Given the description of an element on the screen output the (x, y) to click on. 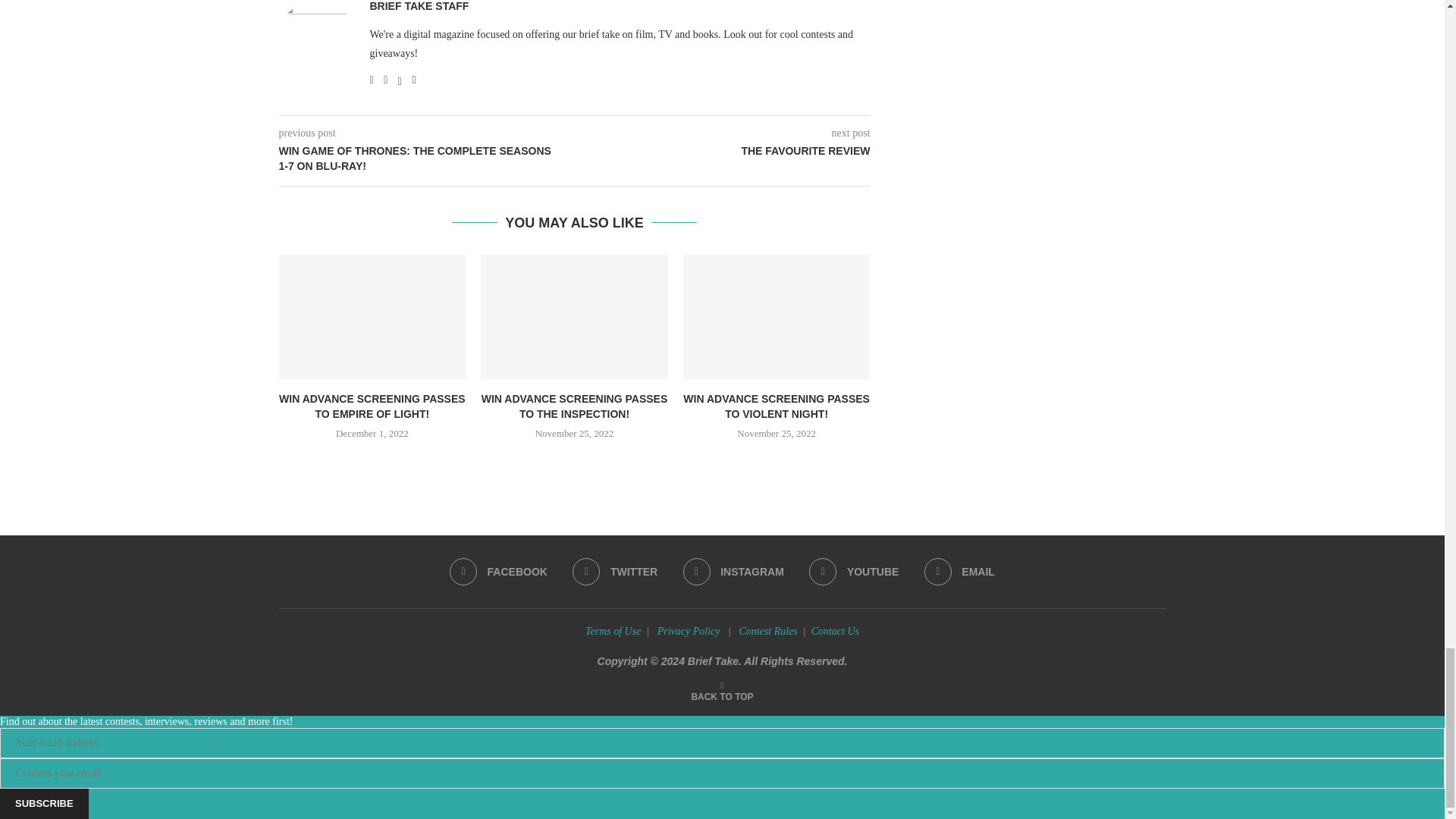
Win advance screening passes to The Inspection! (574, 316)
Win advance screening passes to Empire of Light! (372, 316)
Author Brief Take Staff (418, 6)
Win advance screening passes to Violent Night! (776, 316)
